Given the description of an element on the screen output the (x, y) to click on. 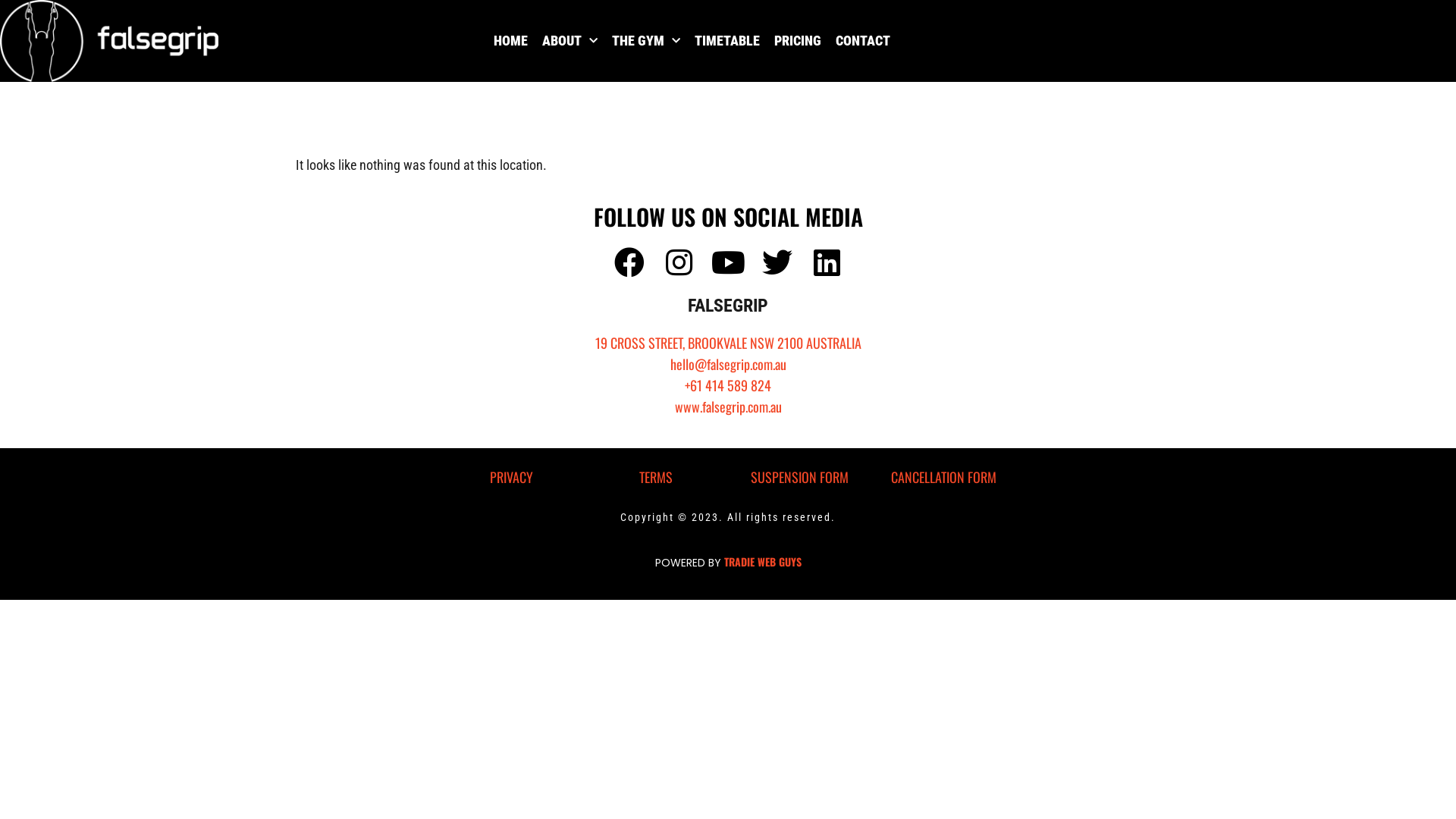
19 CROSS STREET, BROOKVALE NSW 2100 AUSTRALIA Element type: text (727, 342)
SUSPENSION FORM Element type: text (799, 476)
TIMETABLE Element type: text (727, 40)
THE GYM Element type: text (645, 40)
TRADIE WEB GUYS Element type: text (761, 561)
hello@falsegrip.com.au Element type: text (728, 363)
CONTACT Element type: text (862, 40)
PRIVACY Element type: text (511, 476)
www.falsegrip.com.au Element type: text (727, 406)
+61 414 589 824 Element type: text (727, 385)
CANCELLATION FORM Element type: text (943, 476)
ABOUT Element type: text (568, 40)
HOME Element type: text (509, 40)
PRICING Element type: text (796, 40)
TERMS Element type: text (655, 476)
